Given the description of an element on the screen output the (x, y) to click on. 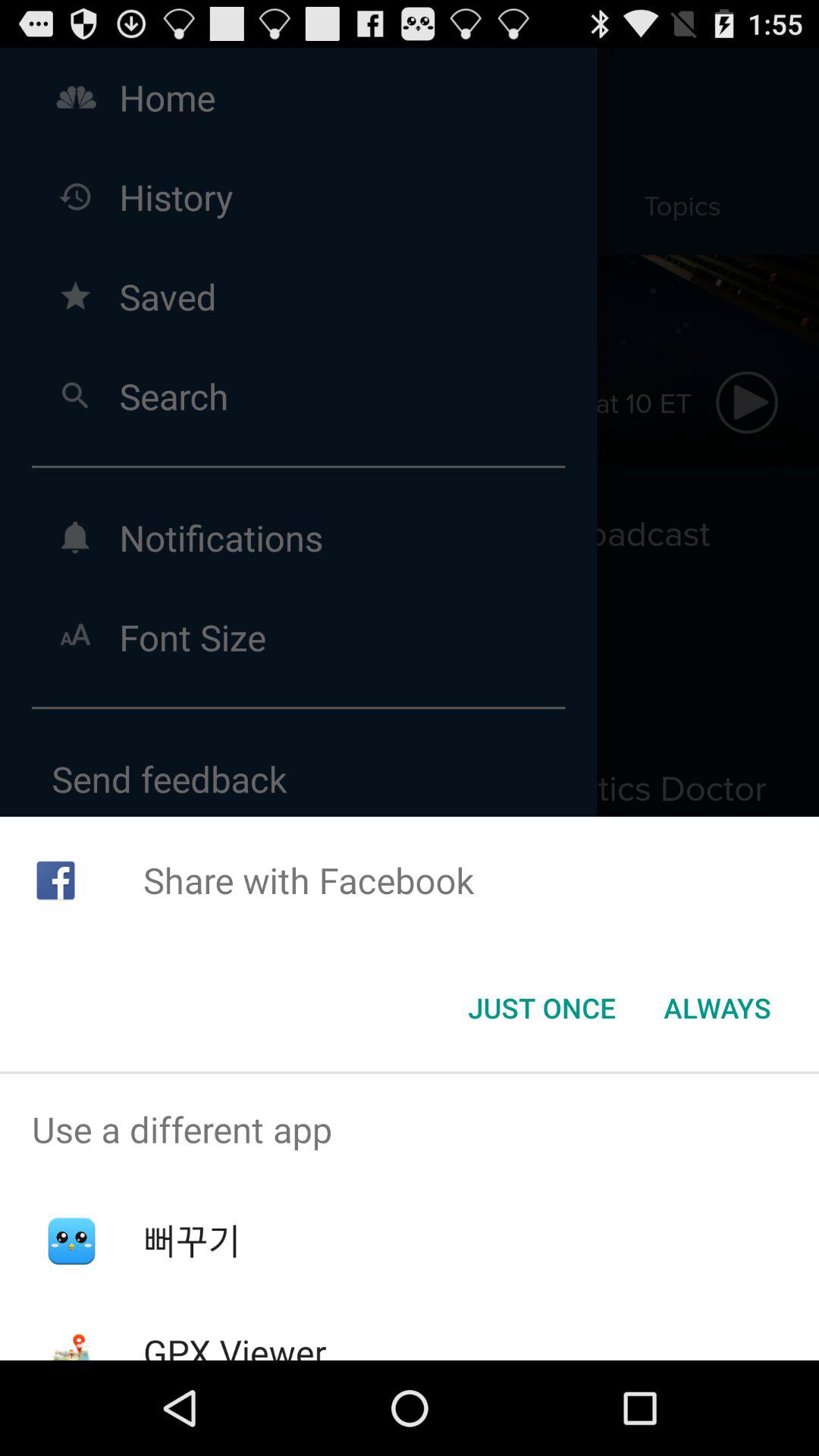
select item to the right of just once item (717, 1007)
